Given the description of an element on the screen output the (x, y) to click on. 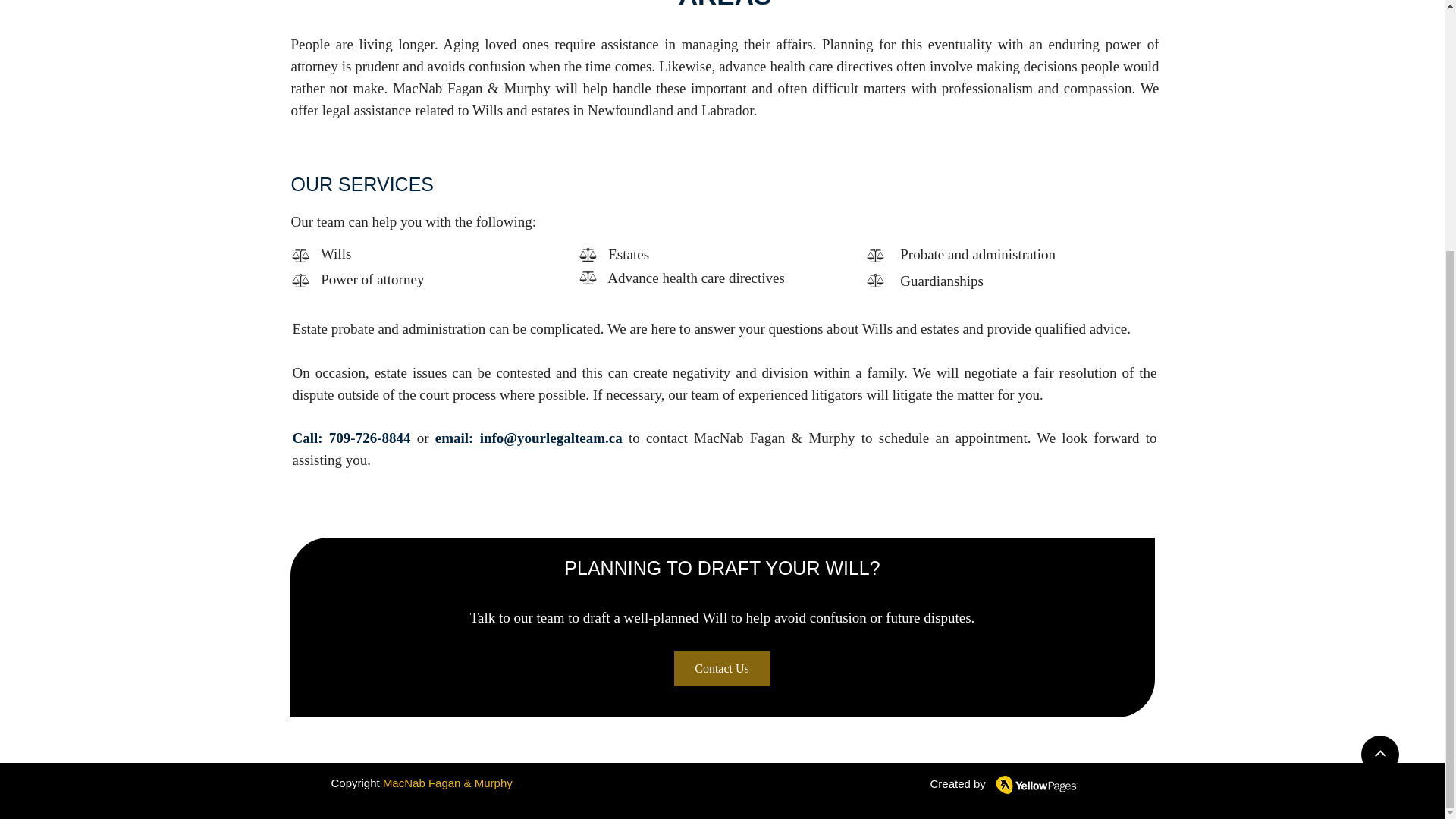
Contact Us (721, 668)
709-726-8844 (369, 437)
